Given the description of an element on the screen output the (x, y) to click on. 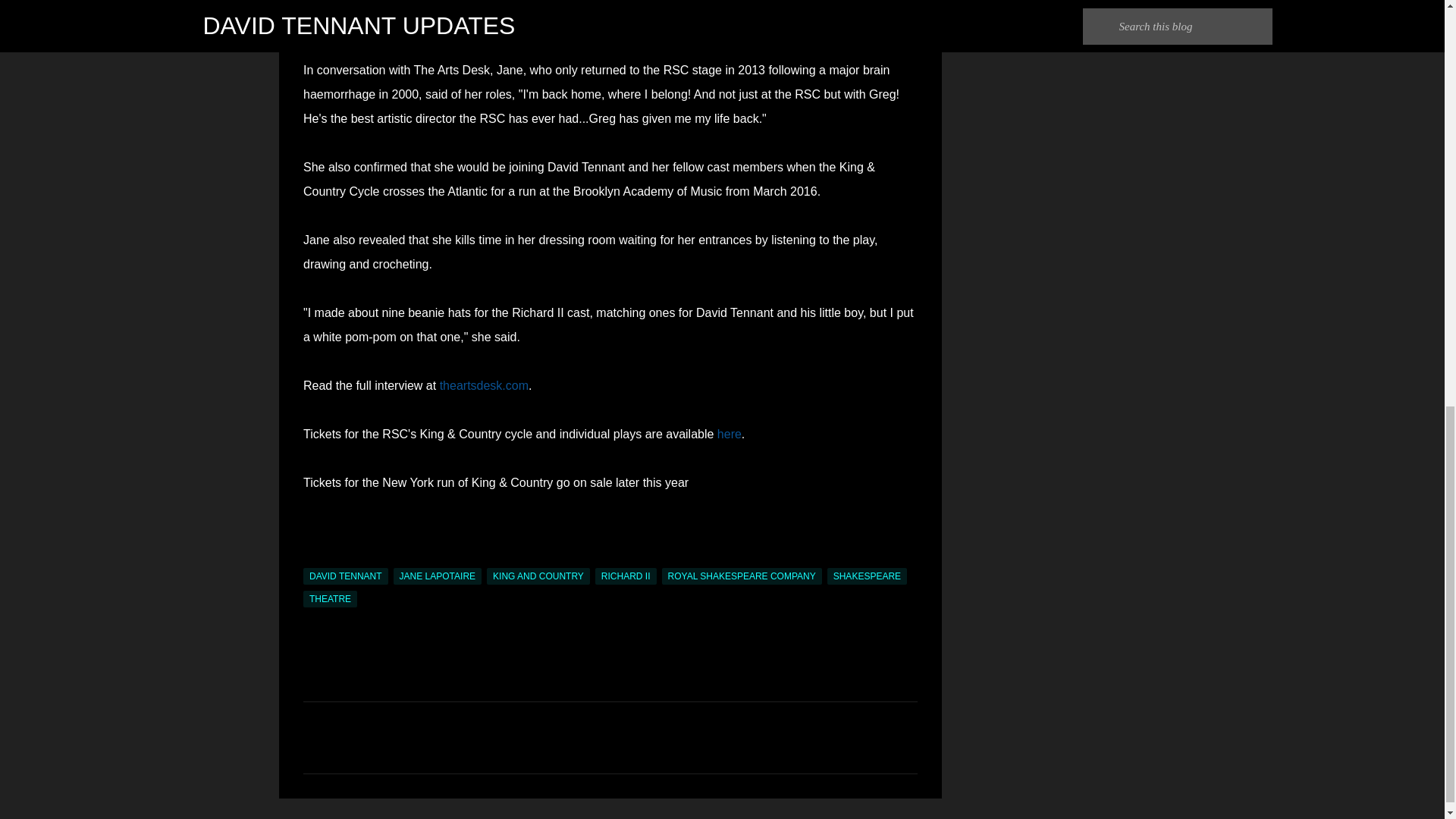
JANE LAPOTAIRE (437, 576)
SHAKESPEARE (867, 576)
THEATRE (329, 598)
ROYAL SHAKESPEARE COMPANY (742, 576)
DAVID TENNANT (345, 576)
theartsdesk.com (483, 385)
RICHARD II (625, 576)
Email Post (311, 558)
here (729, 433)
KING AND COUNTRY (537, 576)
